Given the description of an element on the screen output the (x, y) to click on. 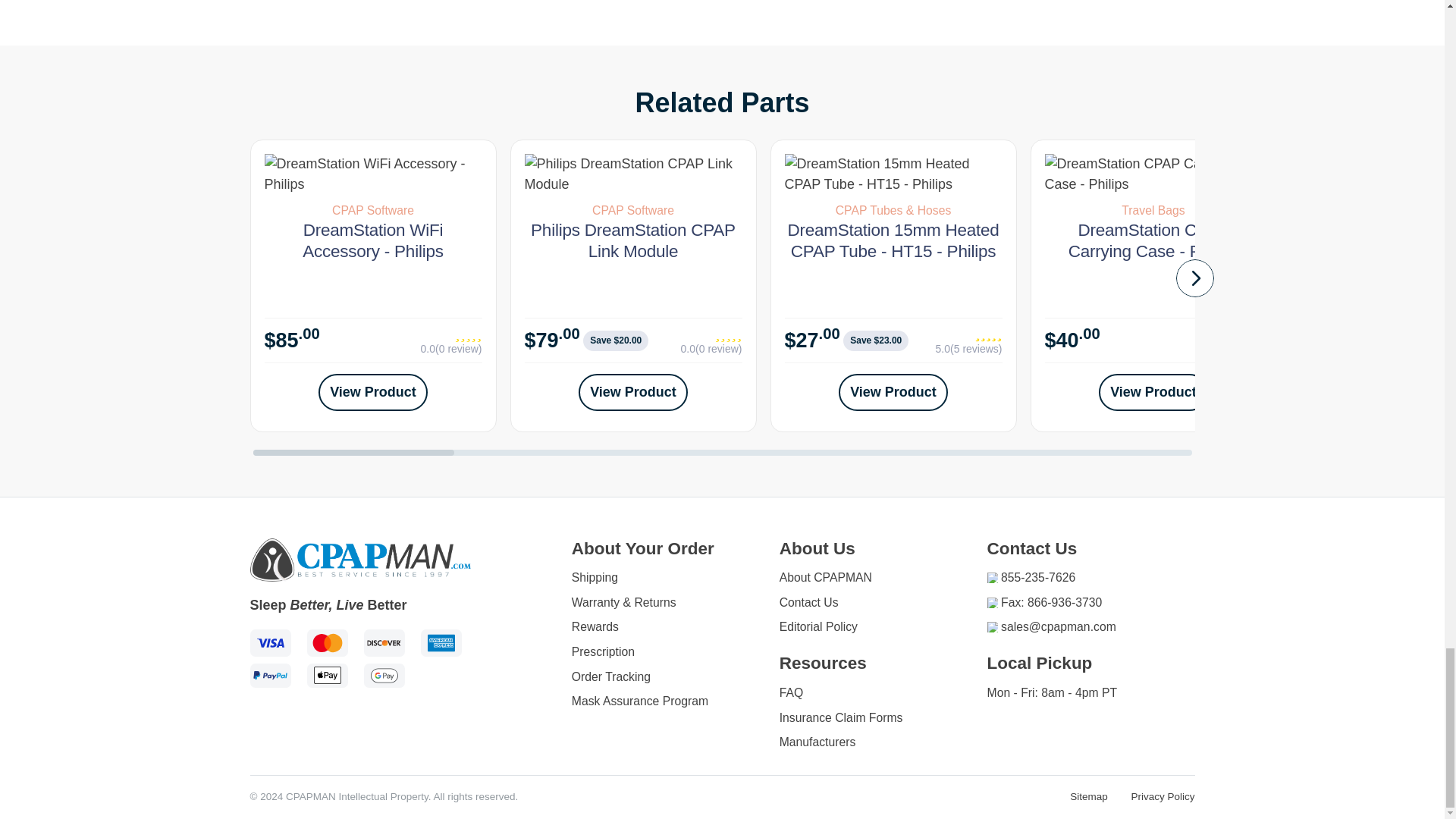
 DreamStation 15mm Heated CPAP Tube - HT15 - Philips  (892, 173)
 DreamStation WiFi Accessory - Philips  (372, 173)
 Philips DreamStation CPAP Link Module  (633, 173)
 DreamStation CPAP Carrying Case - Philips  (1153, 173)
